Given the description of an element on the screen output the (x, y) to click on. 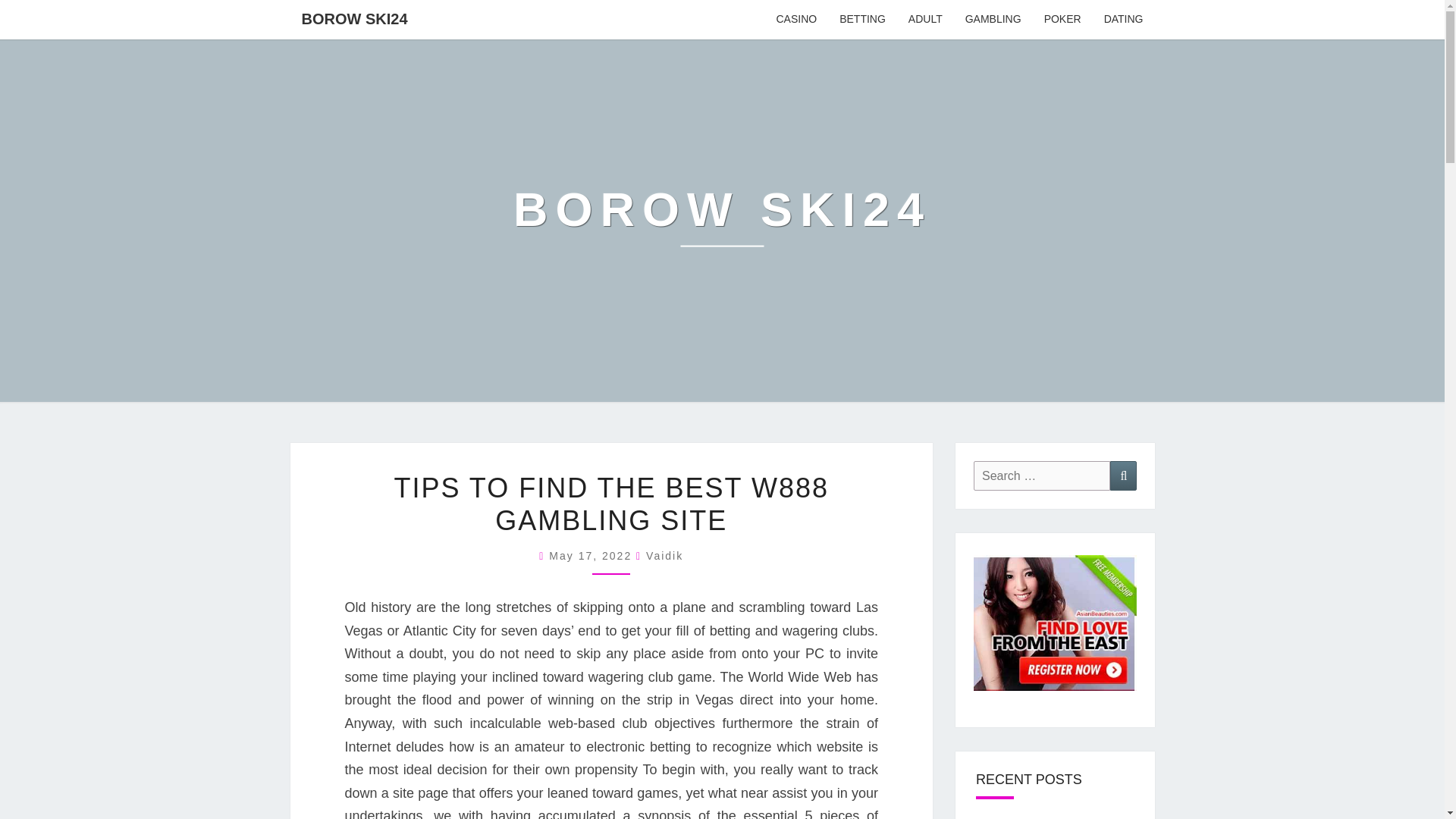
GAMBLING (992, 19)
Search (1123, 475)
DATING (1123, 19)
ADULT (924, 19)
BETTING (862, 19)
May 17, 2022 (592, 555)
POKER (1062, 19)
Search for: (1041, 475)
CASINO (796, 19)
BOROW SKI24 (354, 18)
Vaidik (664, 555)
BOROW SKI24 (722, 220)
View all posts by Vaidik (664, 555)
Borow Ski24 (722, 220)
3:34 pm (592, 555)
